Given the description of an element on the screen output the (x, y) to click on. 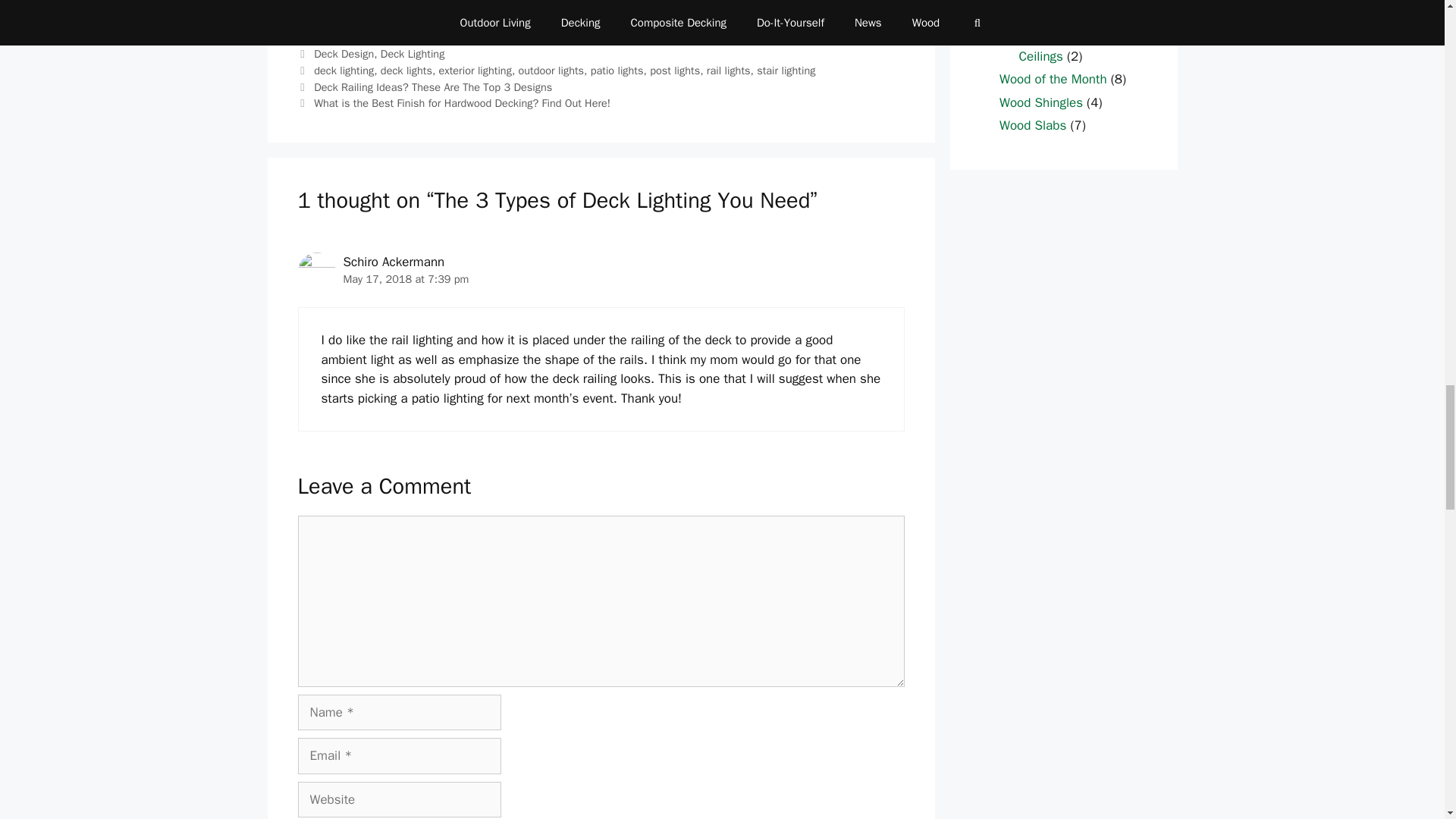
Deck Design (344, 53)
exterior lighting (475, 69)
deck lights (406, 69)
May 17, 2018 at 7:39 pm (405, 278)
What is the Best Finish for Hardwood Decking? Find Out Here! (462, 102)
patio lights (617, 69)
stair lighting (786, 69)
deck lighting (344, 69)
rail lights (728, 69)
post lights (674, 69)
